Given the description of an element on the screen output the (x, y) to click on. 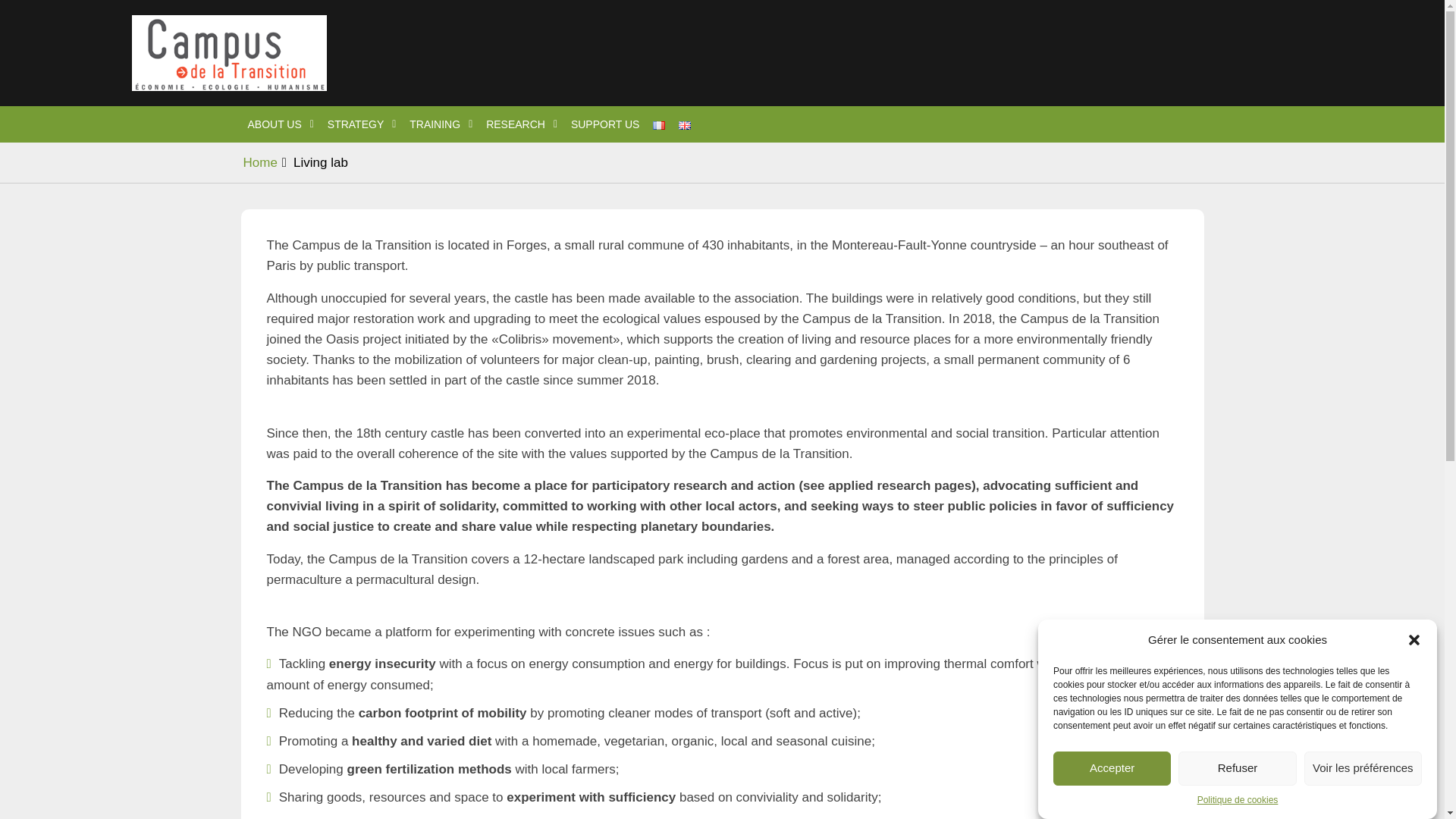
TRAINING (441, 124)
SUPPORT US (605, 124)
STRATEGY (360, 124)
Home (259, 162)
ABOUT US (280, 124)
RESEARCH (520, 124)
